Given the description of an element on the screen output the (x, y) to click on. 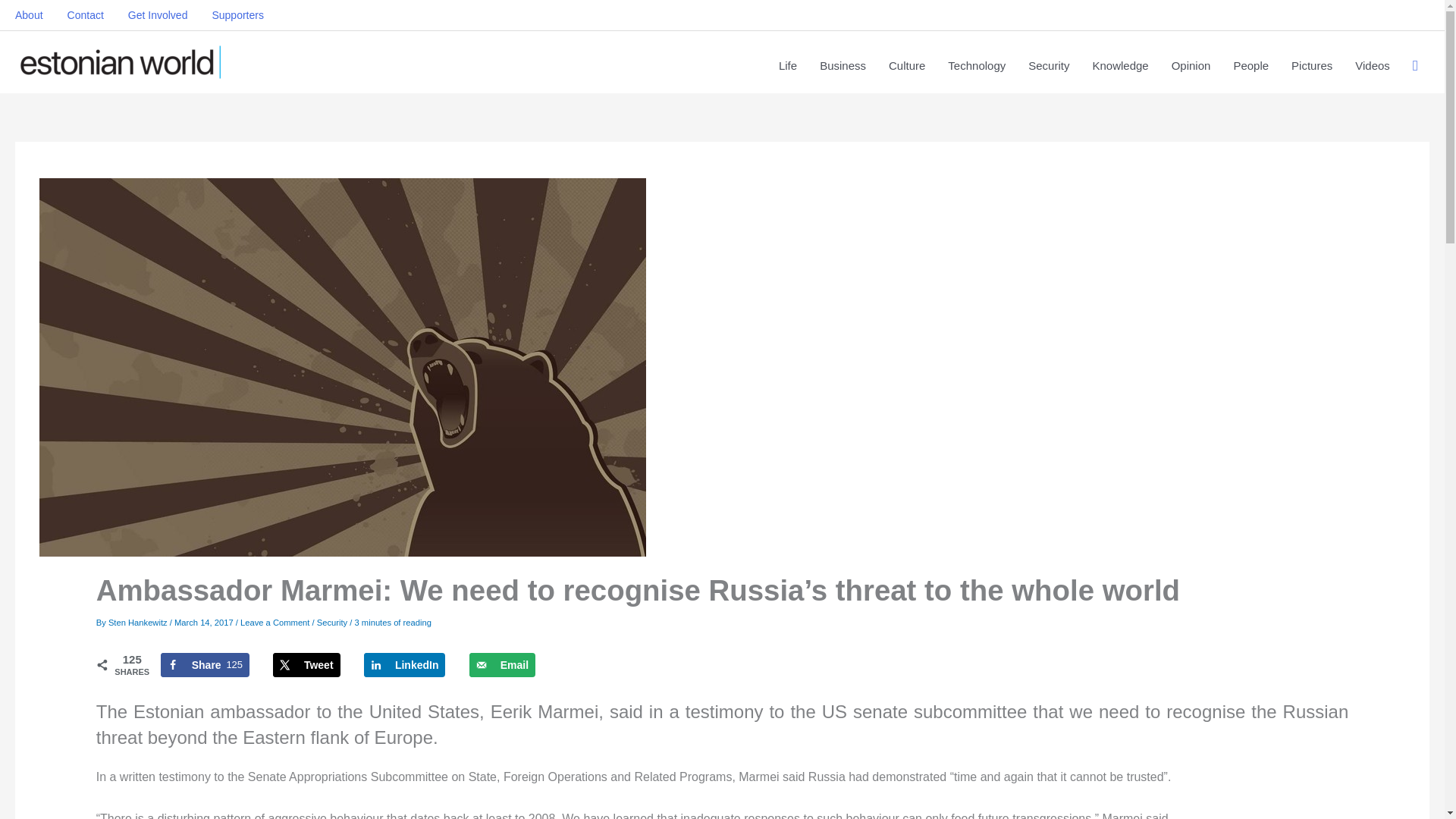
Tweet (306, 664)
Send over email (501, 664)
Business (842, 65)
Opinion (1191, 65)
Technology (976, 65)
Share on Facebook (204, 664)
Security (332, 621)
Leave a Comment (274, 621)
Sten Hankewitz (138, 621)
Pictures (1311, 65)
Security (1048, 65)
Get Involved (158, 15)
View all posts by Sten Hankewitz (138, 621)
Life (204, 664)
